Given the description of an element on the screen output the (x, y) to click on. 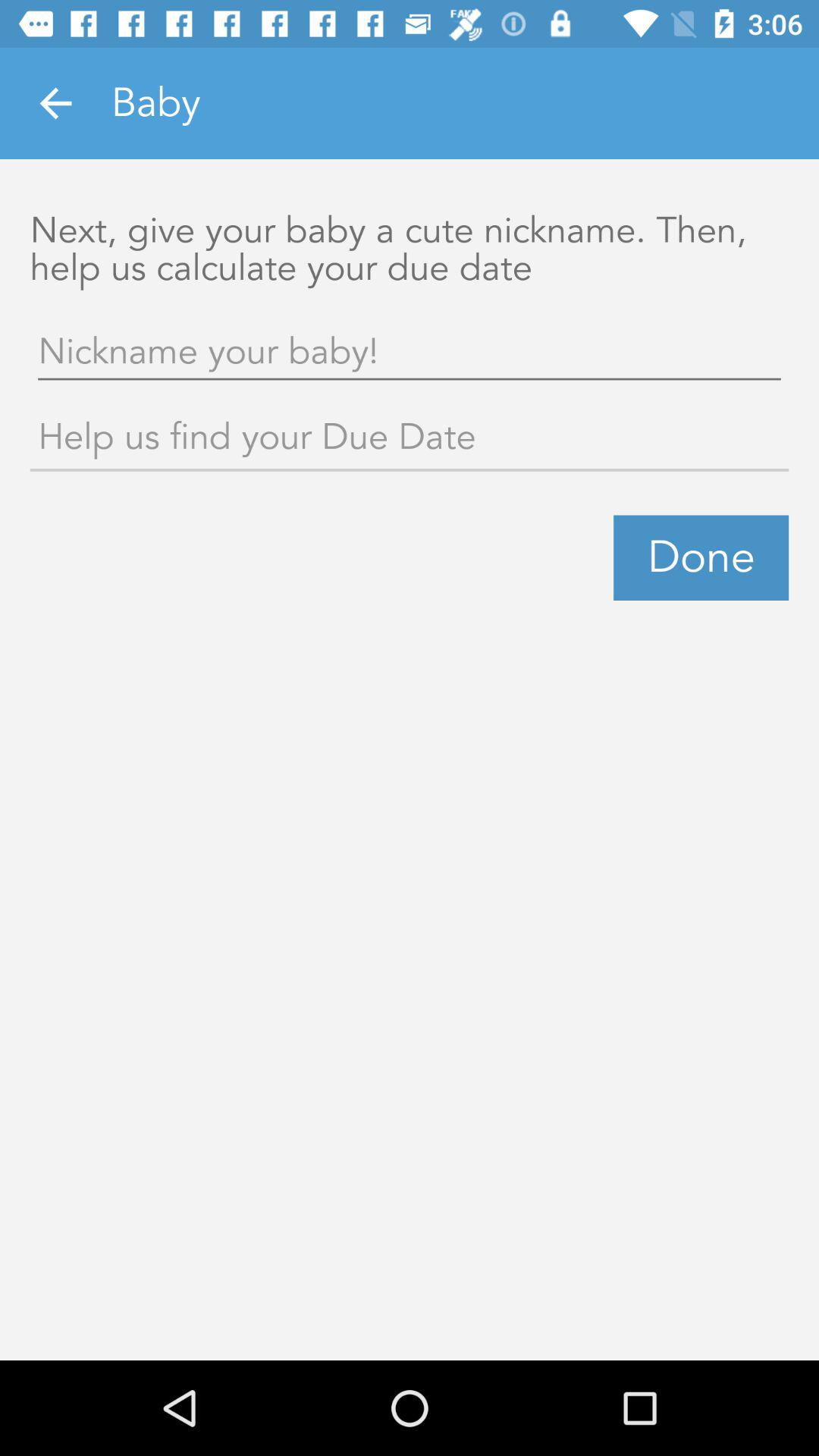
select icon next to baby icon (55, 103)
